Given the description of an element on the screen output the (x, y) to click on. 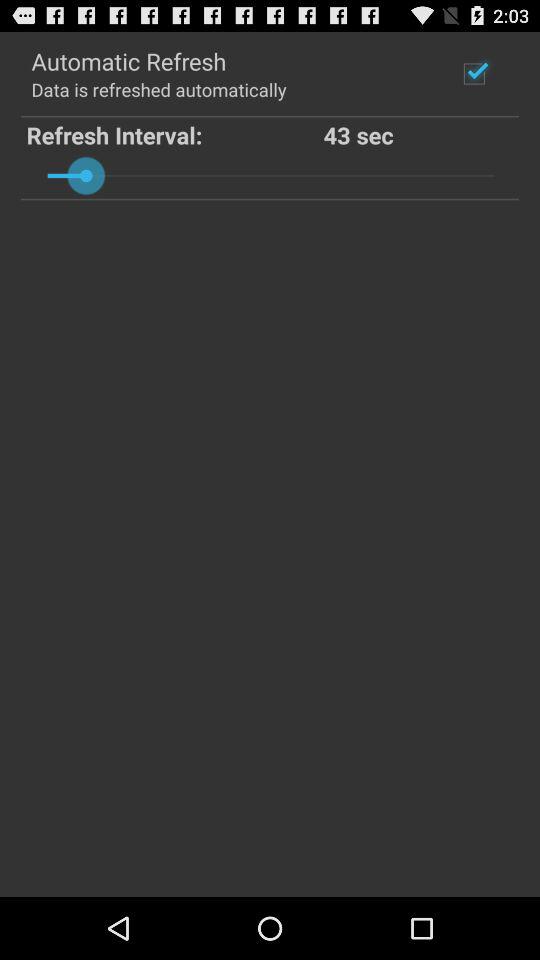
press the icon below refresh interval: item (270, 175)
